Given the description of an element on the screen output the (x, y) to click on. 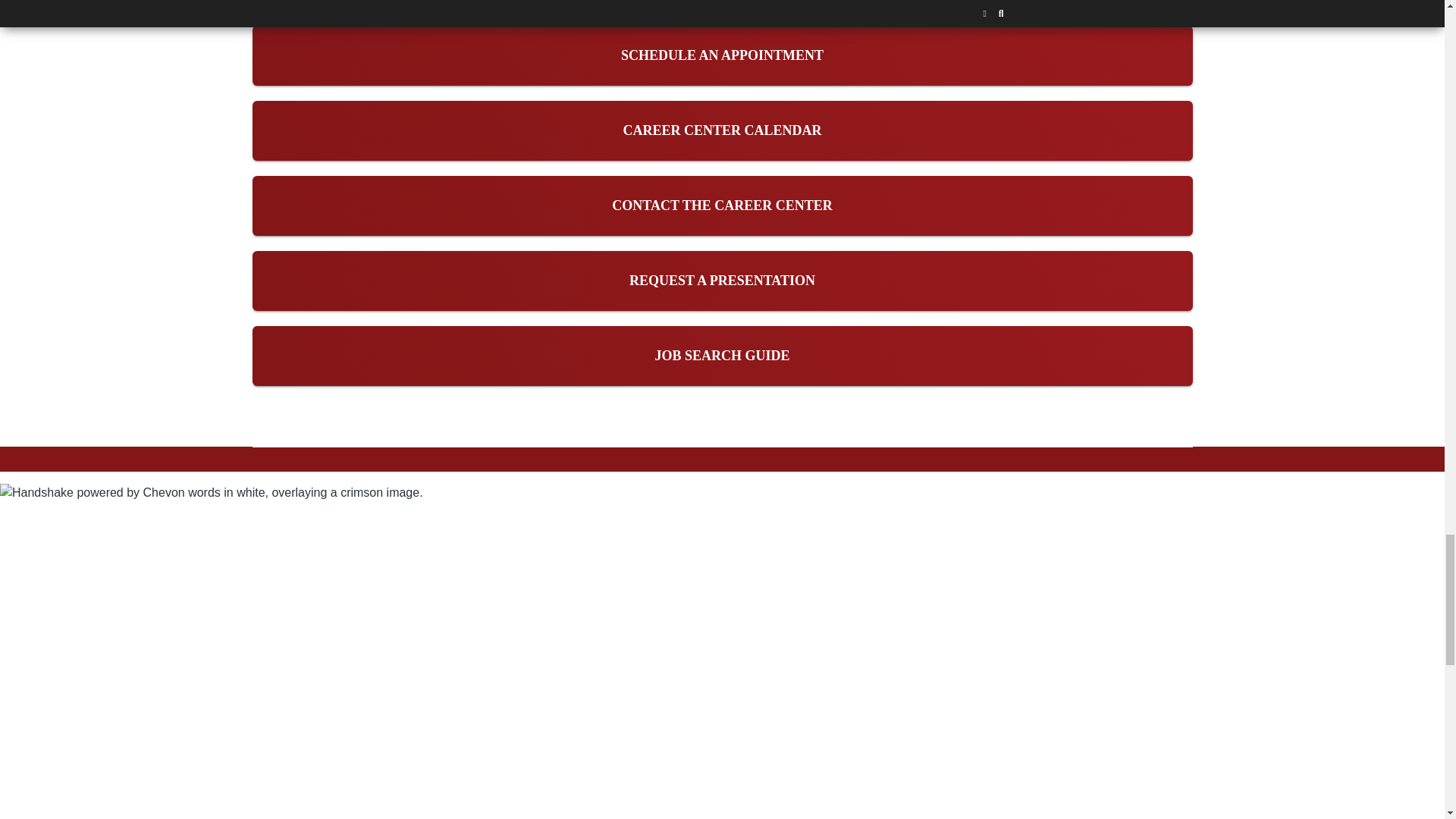
CONTACT THE CAREER CENTER (721, 205)
JOB SEARCH GUIDE (721, 355)
CAREER CENTER CALENDAR (722, 130)
SCHEDULE AN APPOINTMENT (722, 55)
REQUEST A PRESENTATION (721, 280)
